Given the description of an element on the screen output the (x, y) to click on. 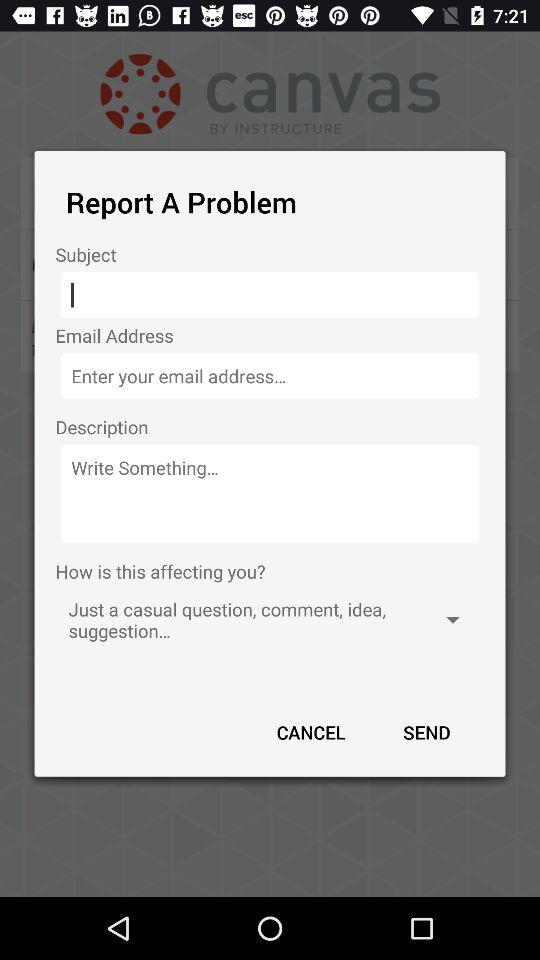
input description (269, 493)
